Given the description of an element on the screen output the (x, y) to click on. 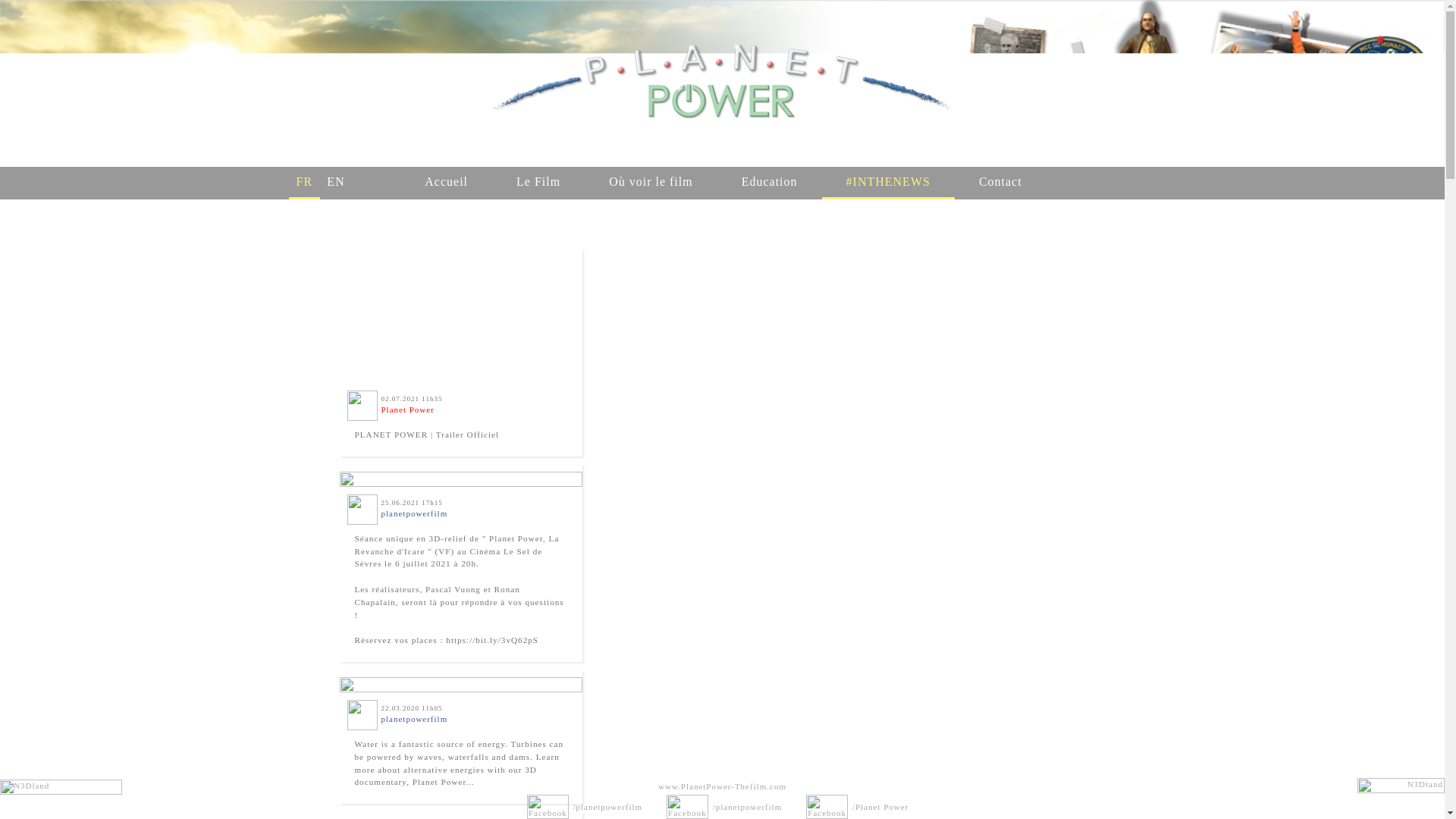
Education (769, 183)
Accueil (446, 183)
FR (304, 183)
Planet Power (406, 409)
Contact (1000, 183)
planetpowerfilm (413, 512)
planetpowerfilm (413, 718)
English (336, 183)
EN (336, 183)
Le Film (538, 183)
